Given the description of an element on the screen output the (x, y) to click on. 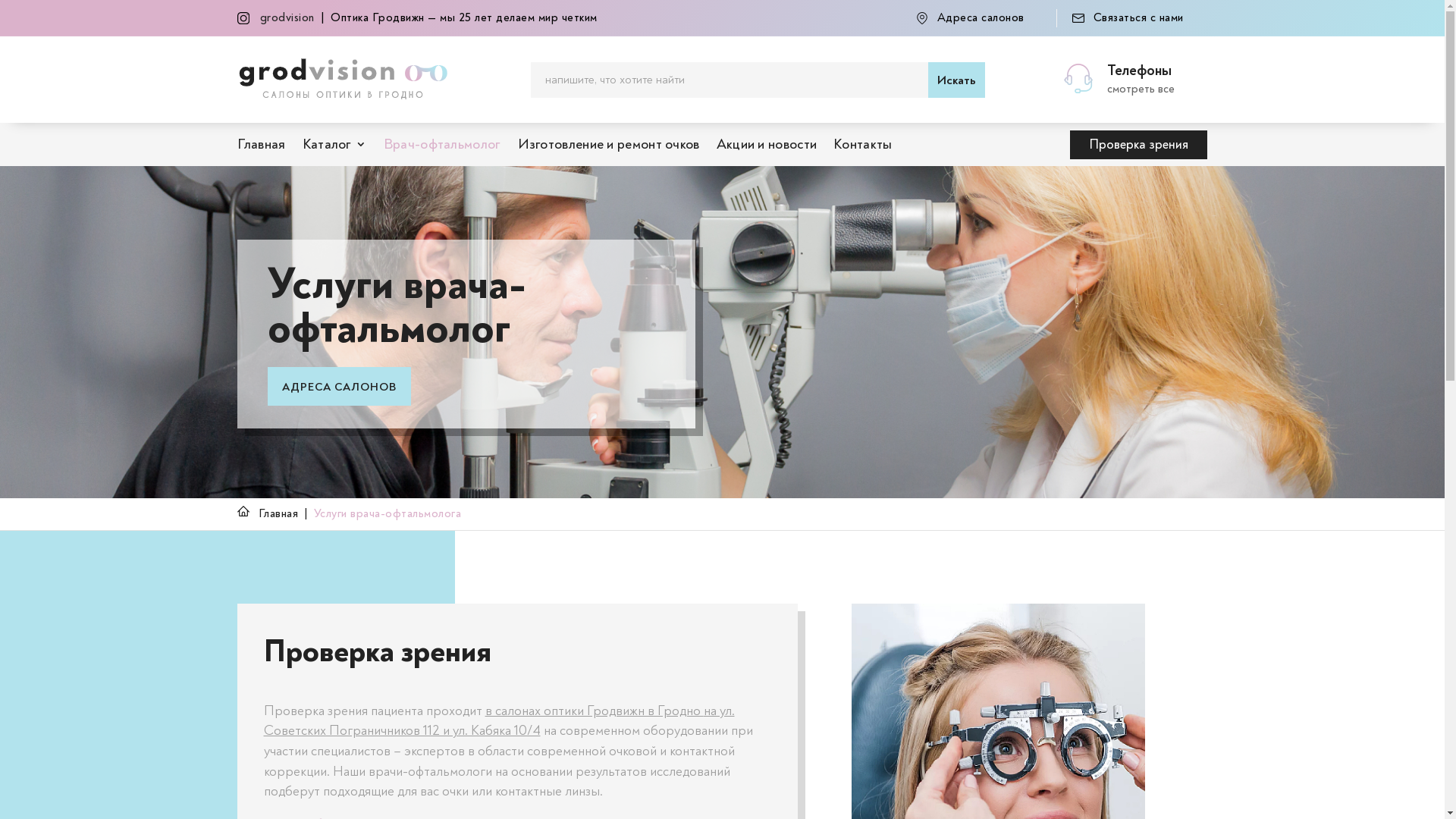
grodvision Element type: text (286, 17)
logo_grodvision Element type: hover (342, 79)
